Given the description of an element on the screen output the (x, y) to click on. 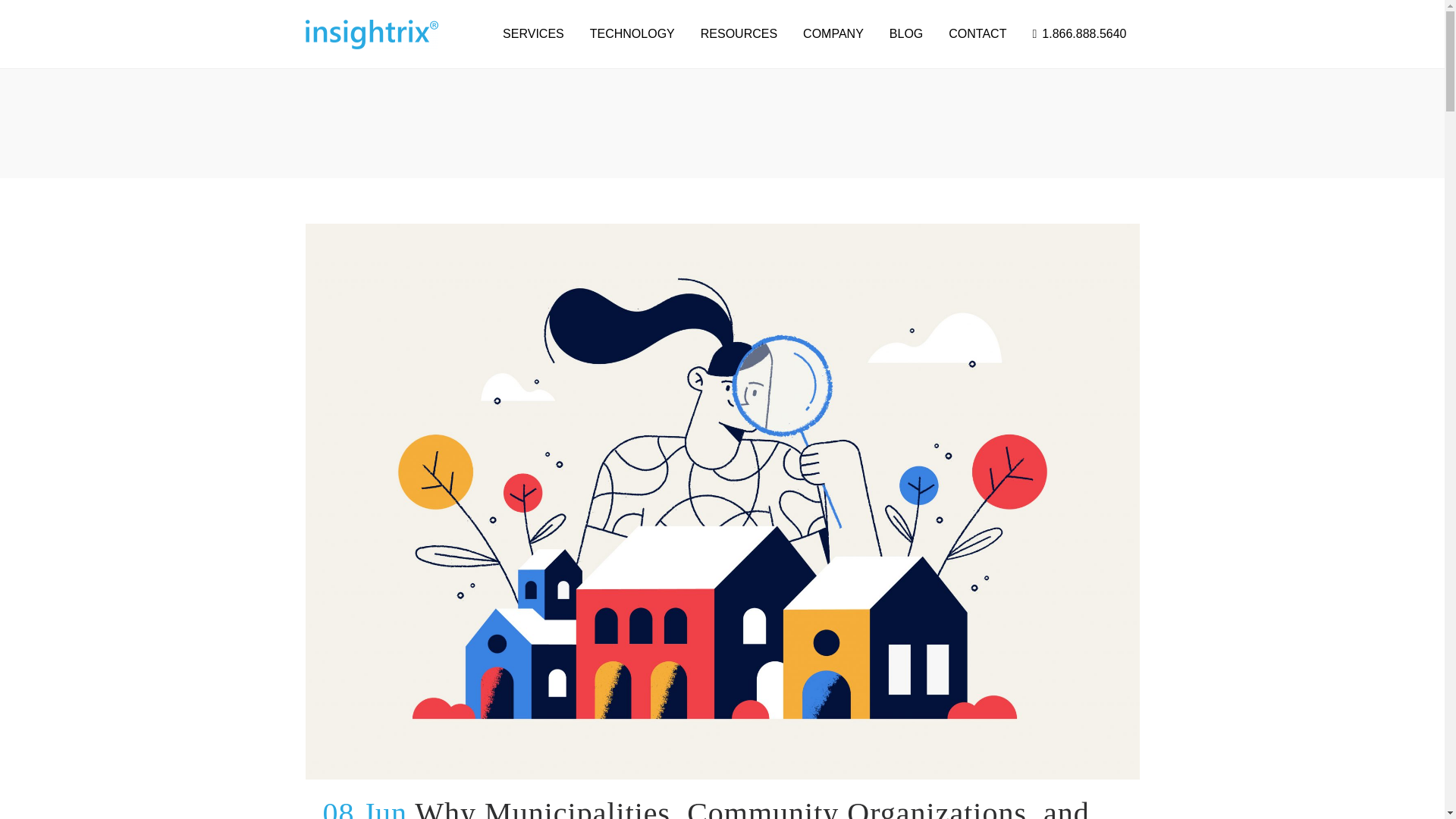
COMPANY (833, 33)
SERVICES (533, 33)
1.866.888.5640 (1078, 33)
TECHNOLOGY (632, 33)
RESOURCES (738, 33)
